Given the description of an element on the screen output the (x, y) to click on. 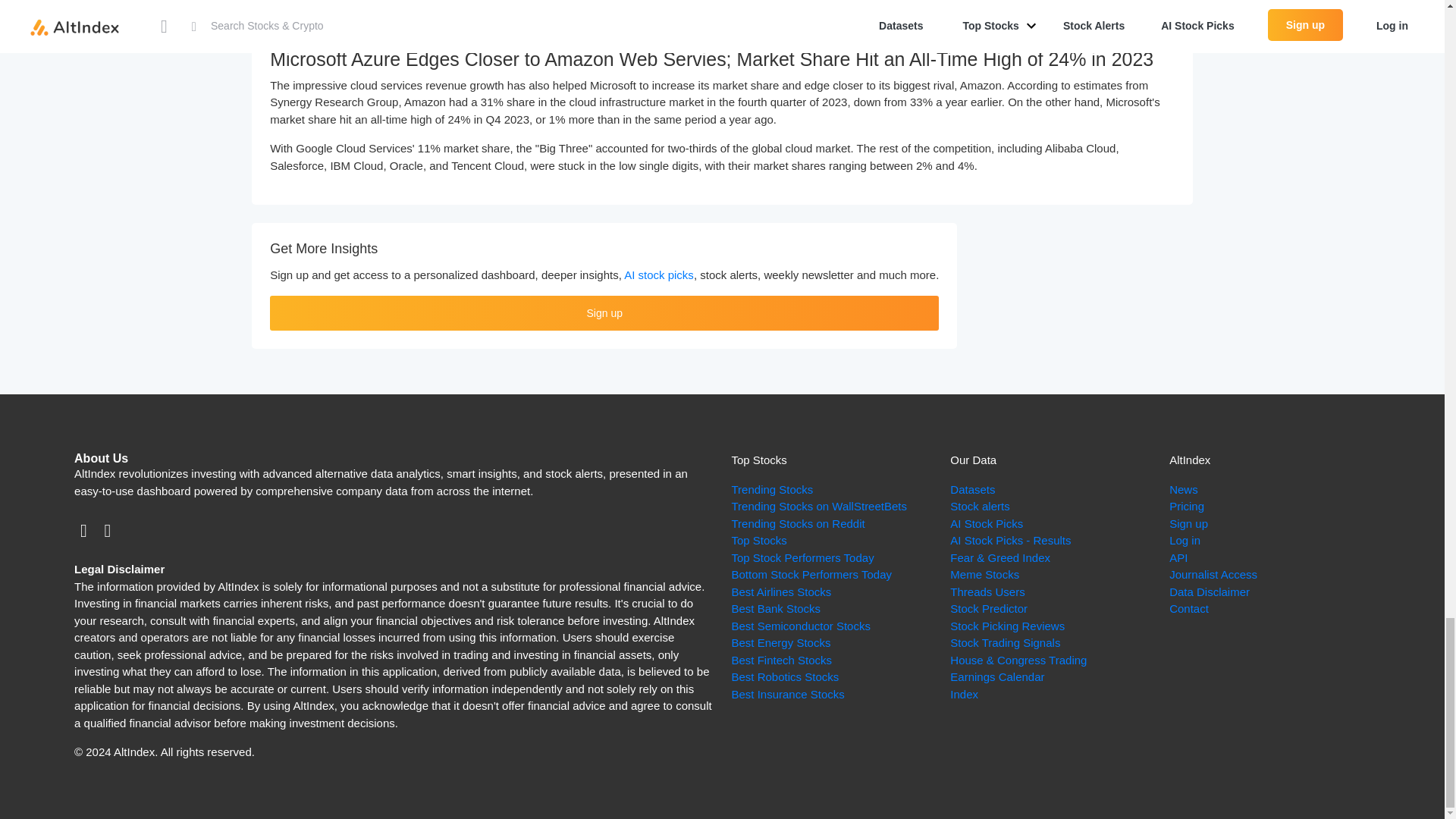
Best Airlines Stocks (780, 591)
AI stock picks (659, 274)
Top Stock Performers Today (801, 557)
Best Bank Stocks (775, 608)
Bottom Stock Performers Today (810, 574)
Best Semiconductor Stocks (799, 625)
Sign up (604, 312)
Trending Stocks on WallStreetBets (818, 505)
Trending Stocks (771, 489)
Top Stocks (758, 540)
Trending Stocks on Reddit (797, 522)
